Given the description of an element on the screen output the (x, y) to click on. 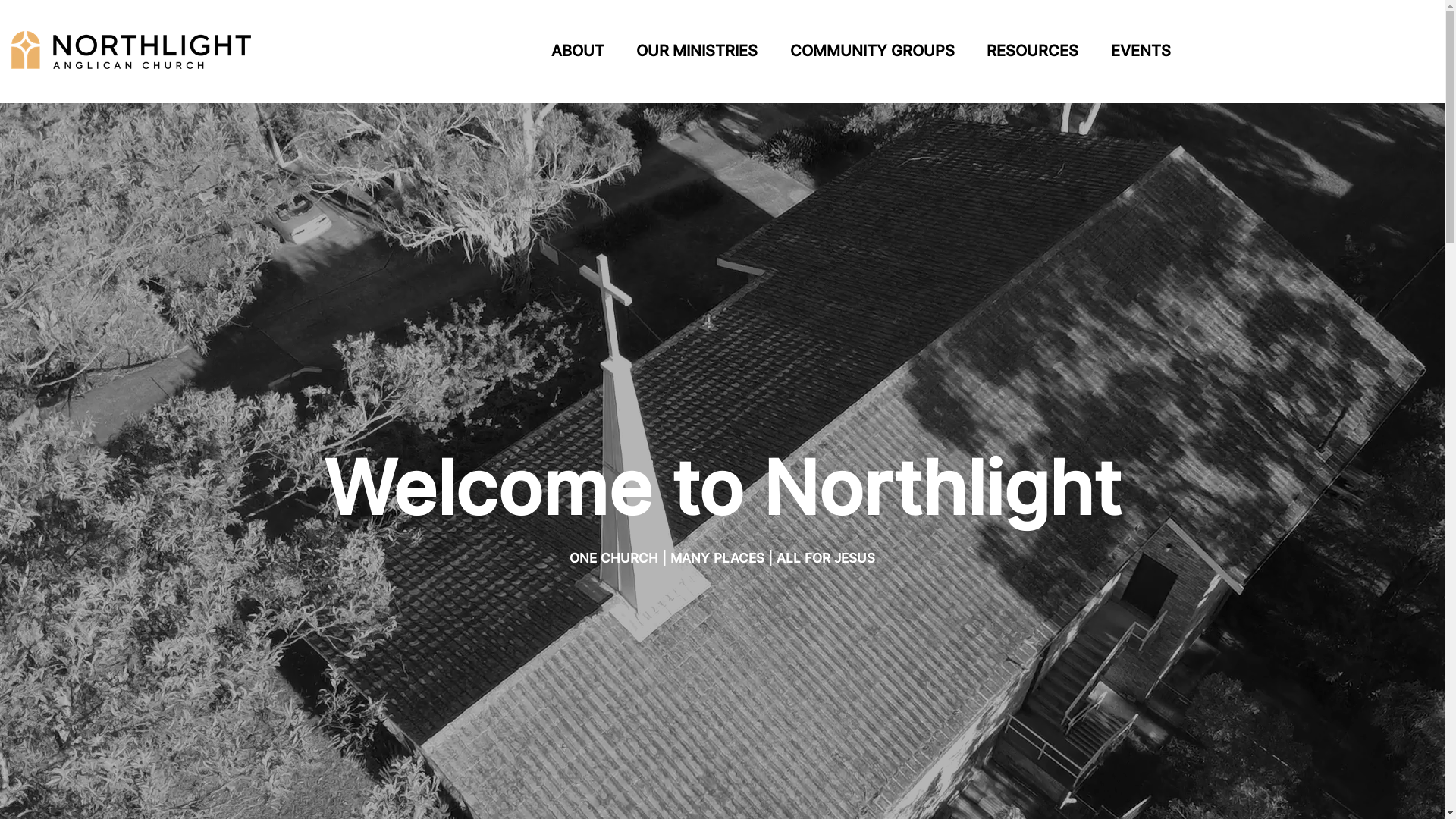
OUR MINISTRIES Element type: text (696, 51)
COMMUNITY GROUPS Element type: text (872, 51)
RESOURCES Element type: text (1032, 51)
ABOUT Element type: text (577, 51)
EVENTS Element type: text (1139, 51)
